Given the description of an element on the screen output the (x, y) to click on. 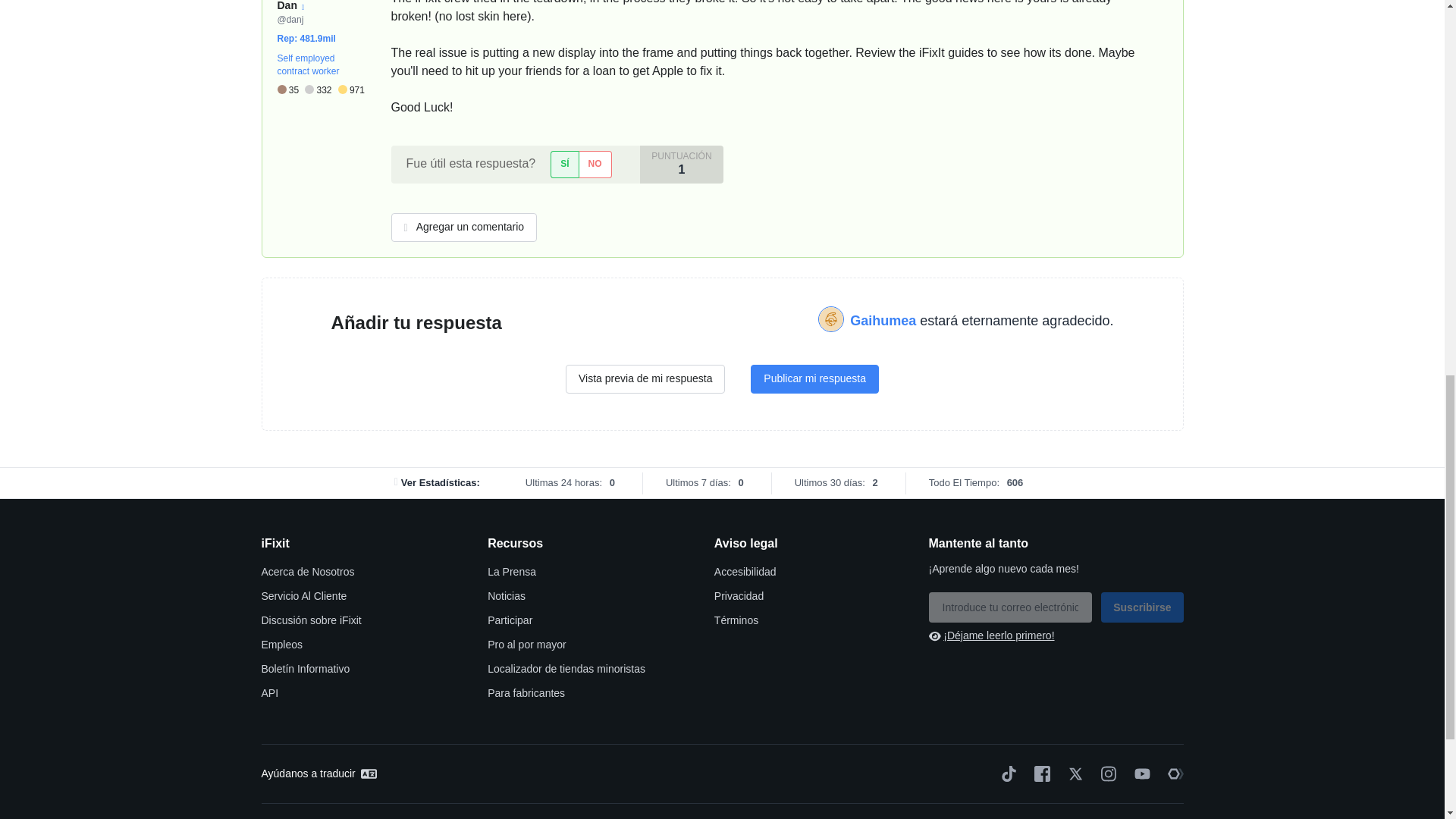
971 insignias de Oro (351, 90)
35 insignias de Bronce (291, 90)
332 insignias de Plata (320, 90)
